Given the description of an element on the screen output the (x, y) to click on. 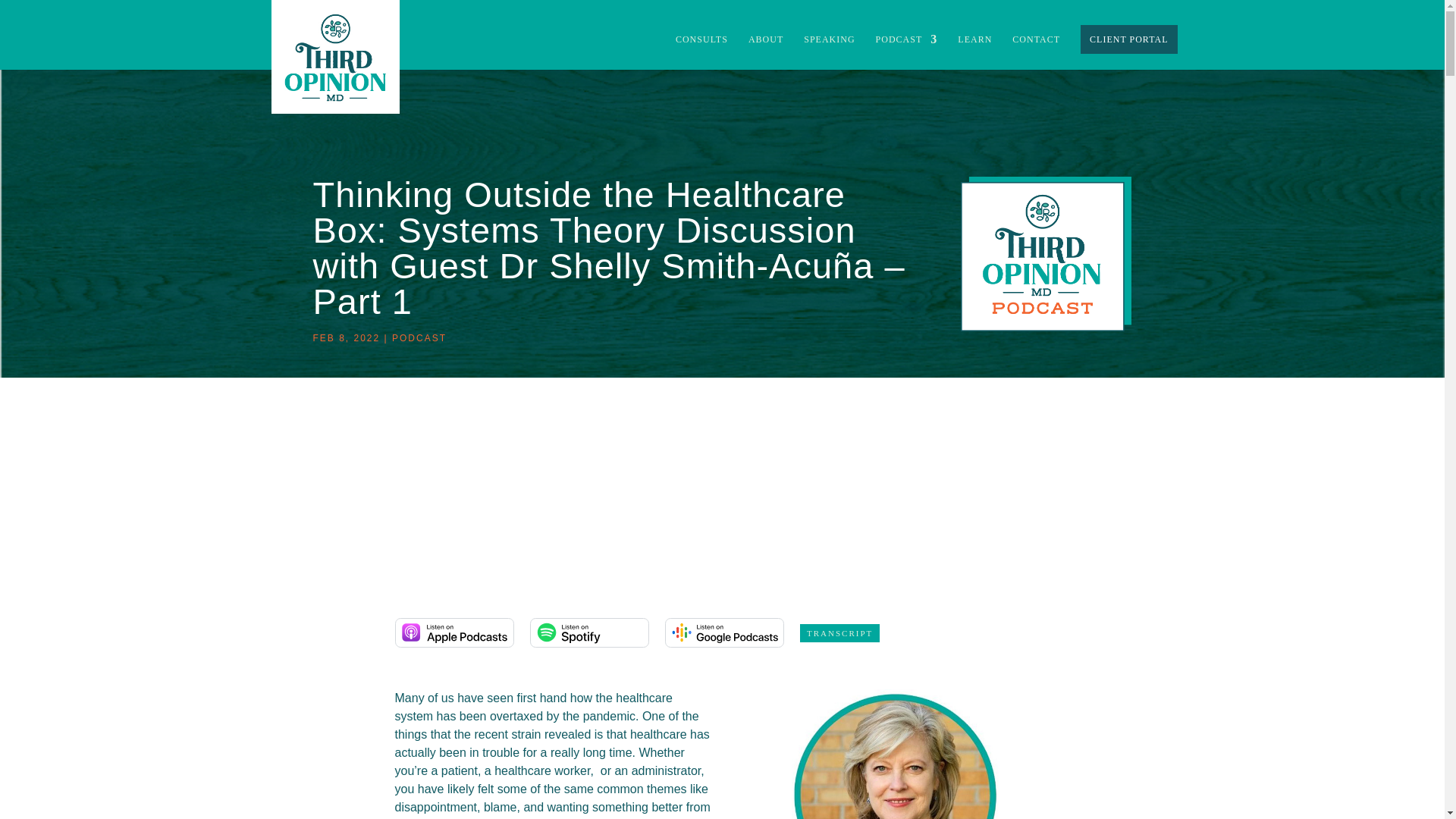
CONTACT (1035, 51)
ABOUT (765, 51)
PODCAST (906, 51)
CONSULTS (701, 51)
PODCAST (418, 337)
SPEAKING (828, 51)
CLIENT PORTAL (1128, 39)
LEARN (974, 51)
TRANSCRIPT (839, 633)
